Given the description of an element on the screen output the (x, y) to click on. 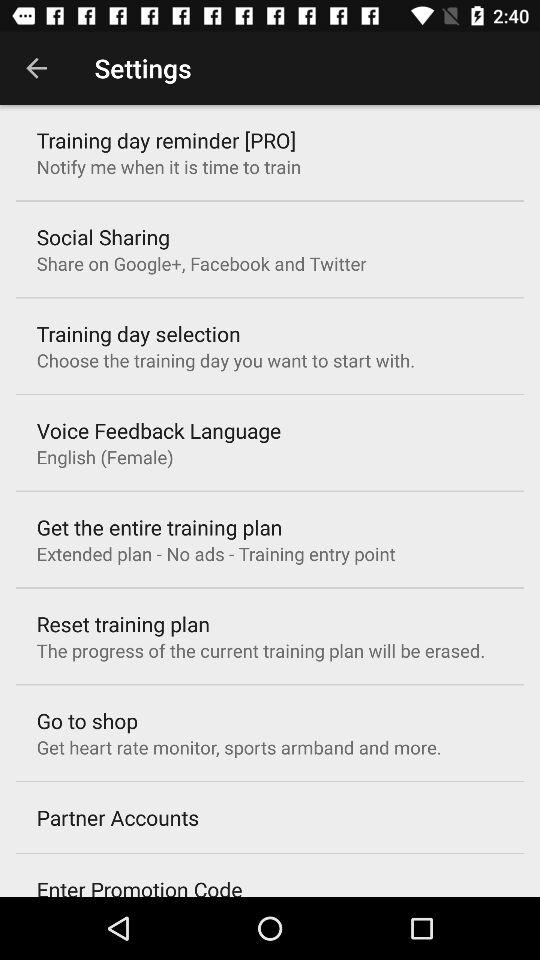
press icon above the training day selection item (201, 263)
